Given the description of an element on the screen output the (x, y) to click on. 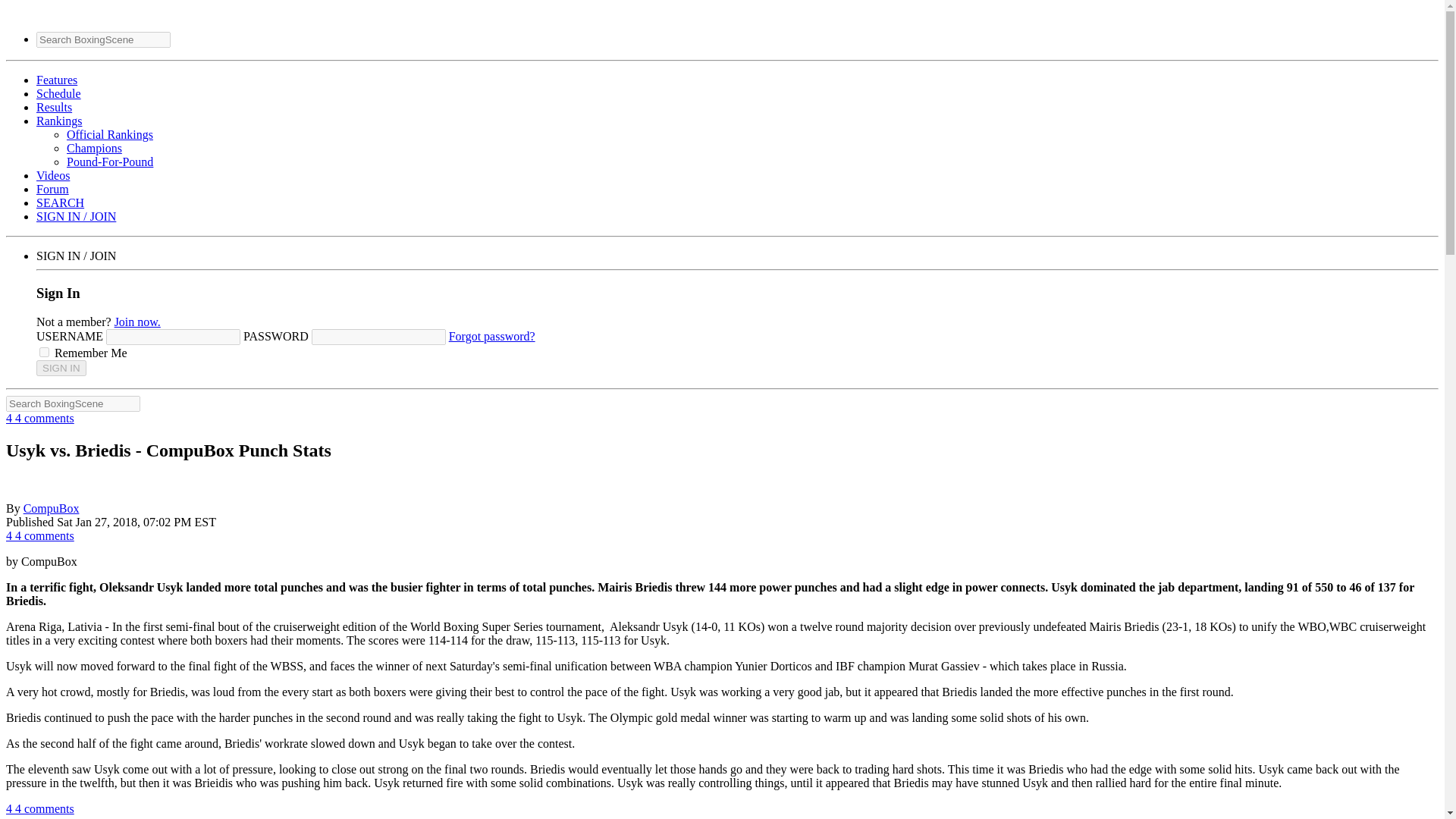
Forum (52, 188)
Results (53, 106)
Schedule (58, 92)
Videos (52, 174)
CompuBox (51, 508)
Pound-For-Pound (109, 161)
Champions (94, 147)
Features (56, 79)
Official Rankings (109, 133)
SEARCH (60, 202)
